Given the description of an element on the screen output the (x, y) to click on. 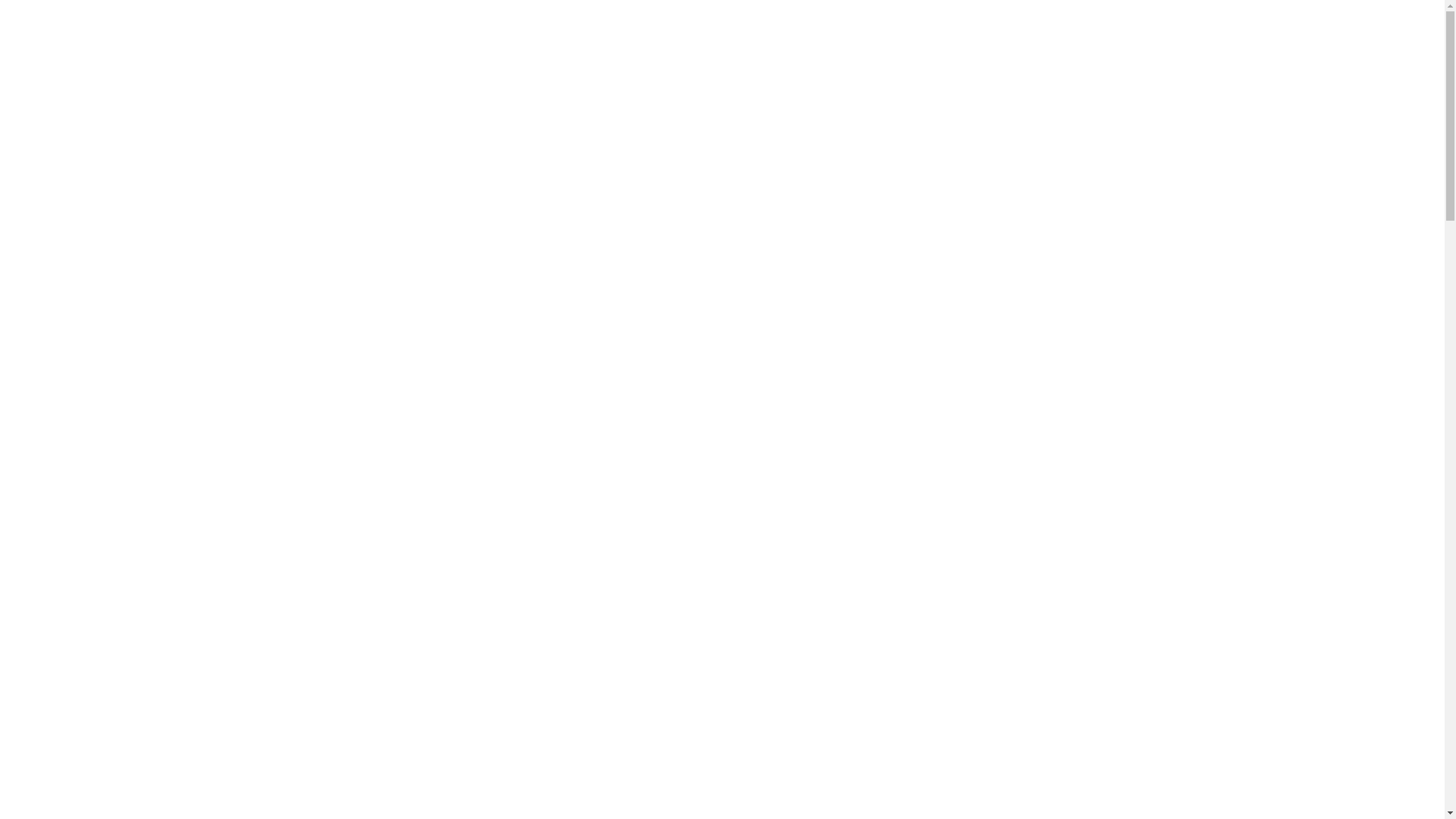
About Element type: text (1014, 33)
Newsletter Element type: text (1346, 33)
3000 peaks Element type: text (103, 33)
Open Call Element type: text (1164, 33)
